Given the description of an element on the screen output the (x, y) to click on. 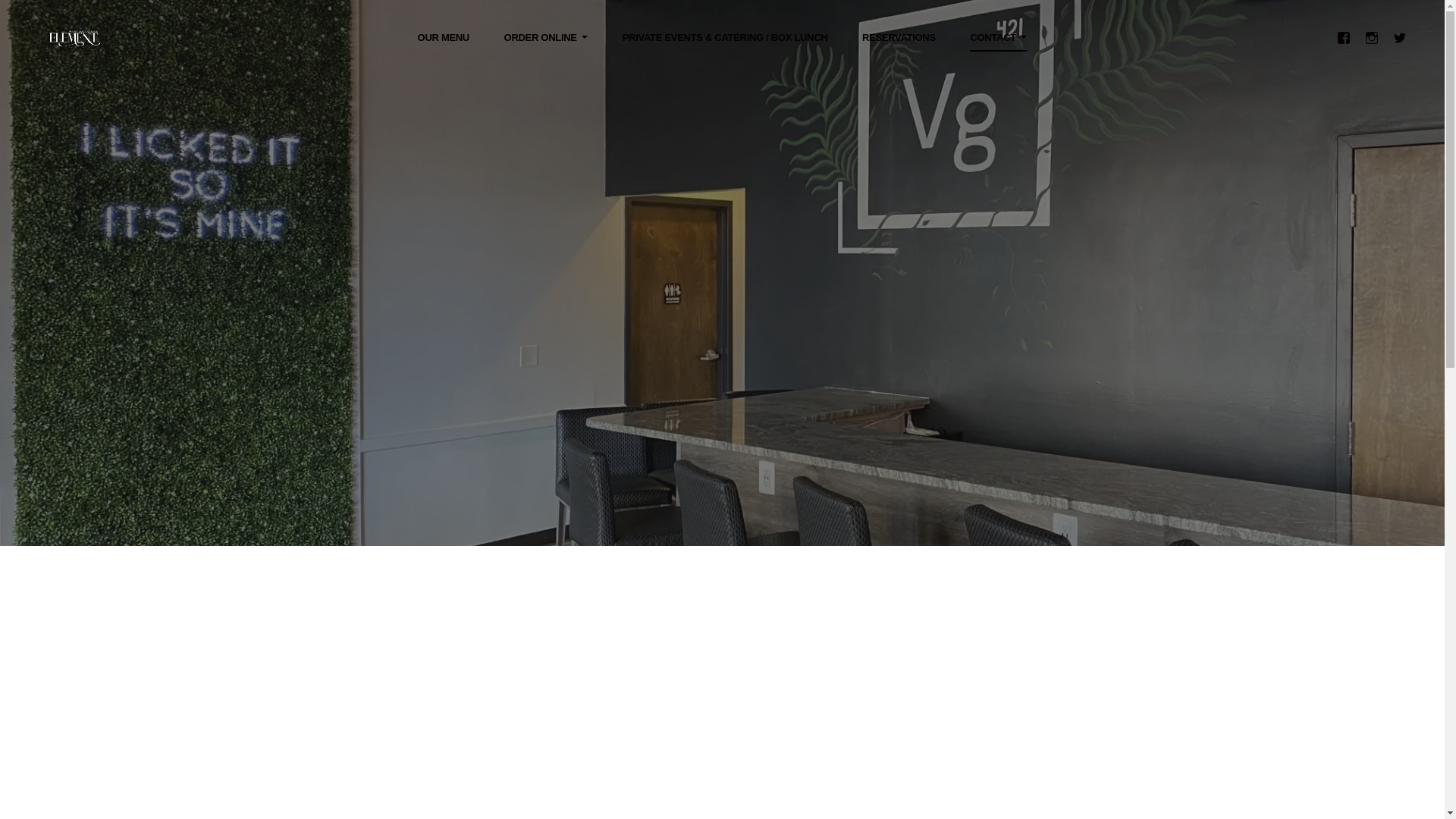
RESERVATIONS (898, 37)
CONTACT (997, 37)
OUR MENU (442, 37)
ORDER ONLINE (545, 37)
